Given the description of an element on the screen output the (x, y) to click on. 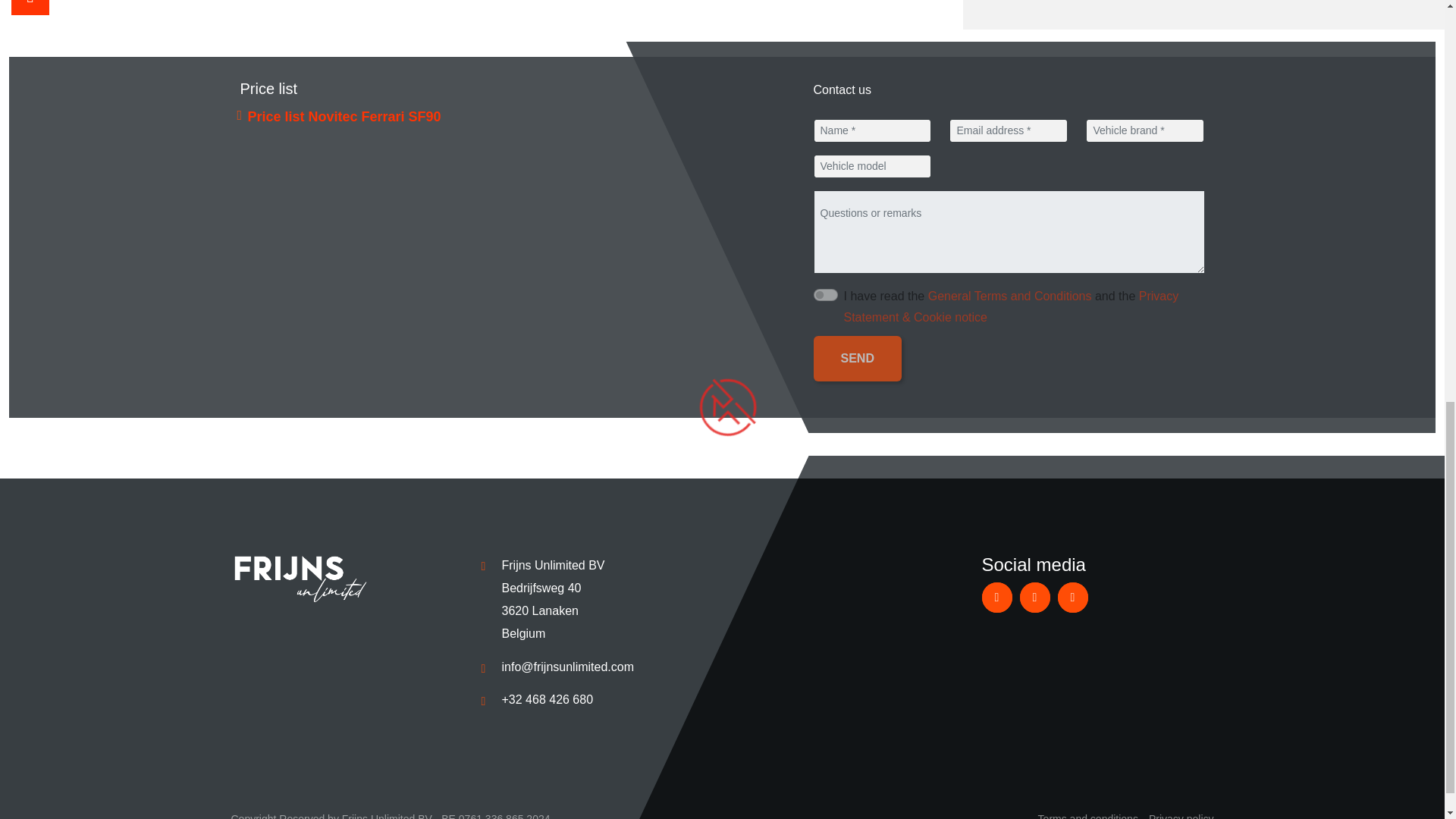
General Terms and Conditions (1010, 295)
on (824, 295)
SEND (856, 358)
Price list Novitec Ferrari SF90 (344, 116)
Terms and conditions (1088, 816)
